Given the description of an element on the screen output the (x, y) to click on. 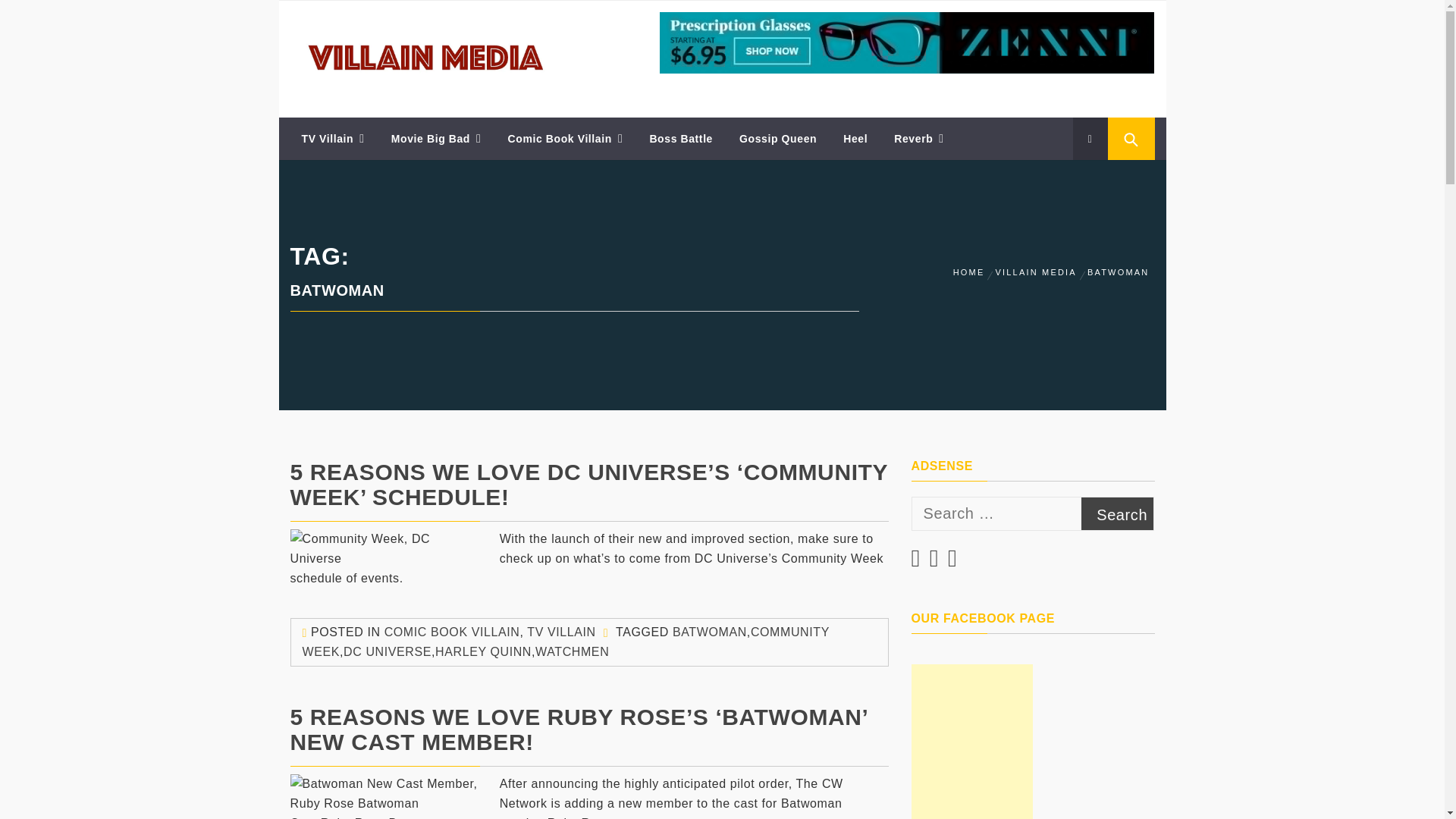
Gossip Queen (778, 138)
Reverb (918, 138)
Heel (855, 138)
Boss Battle (680, 138)
Search (1117, 513)
Search (1117, 513)
VILLAIN MEDIA (370, 33)
Movie Big Bad (436, 138)
Comic Book Villain (565, 138)
TV Villain (332, 138)
